Given the description of an element on the screen output the (x, y) to click on. 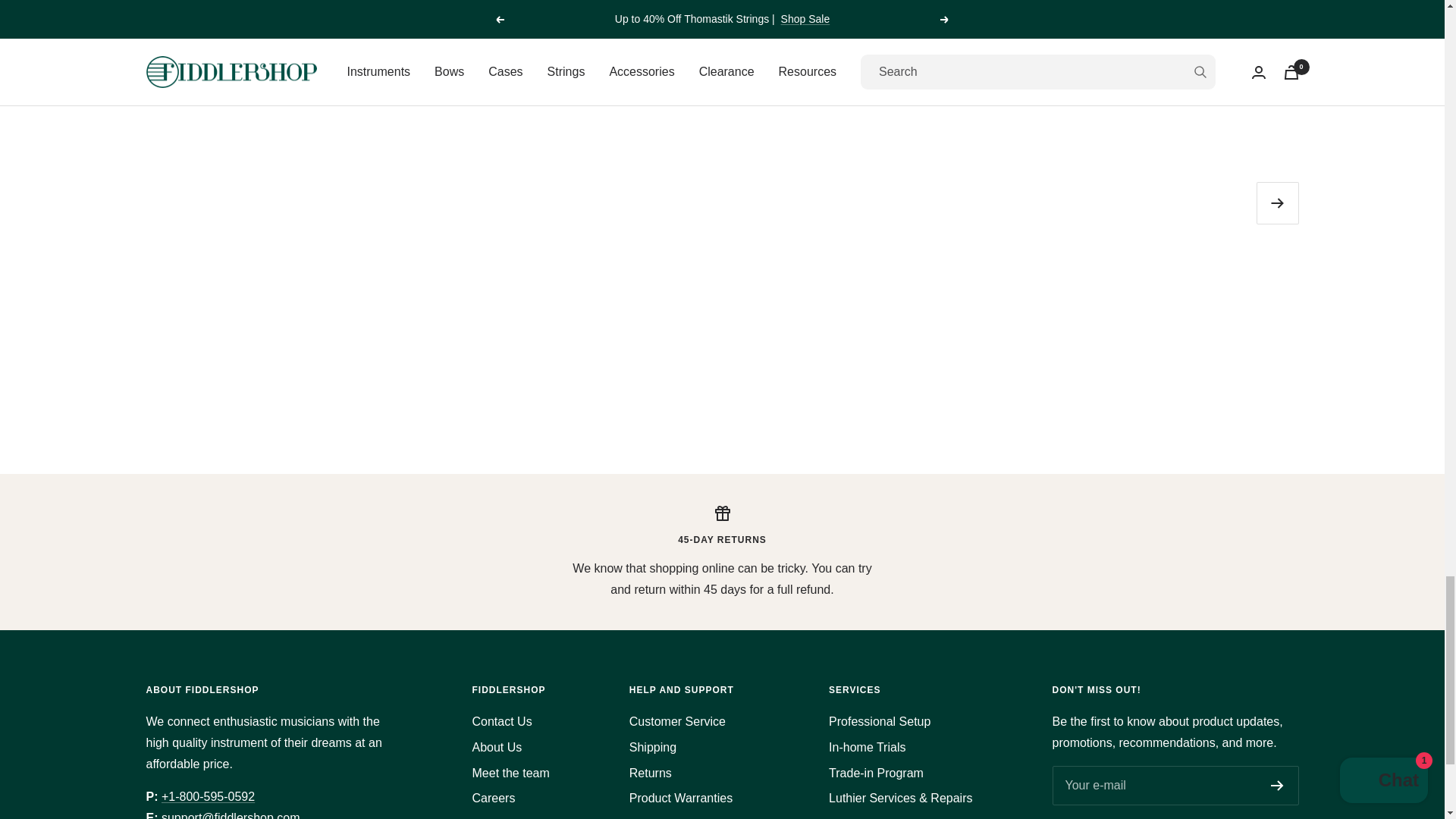
Fiddlershop Customer Support Email (230, 815)
tel:18005950592 (207, 796)
Register (1277, 785)
